Given the description of an element on the screen output the (x, y) to click on. 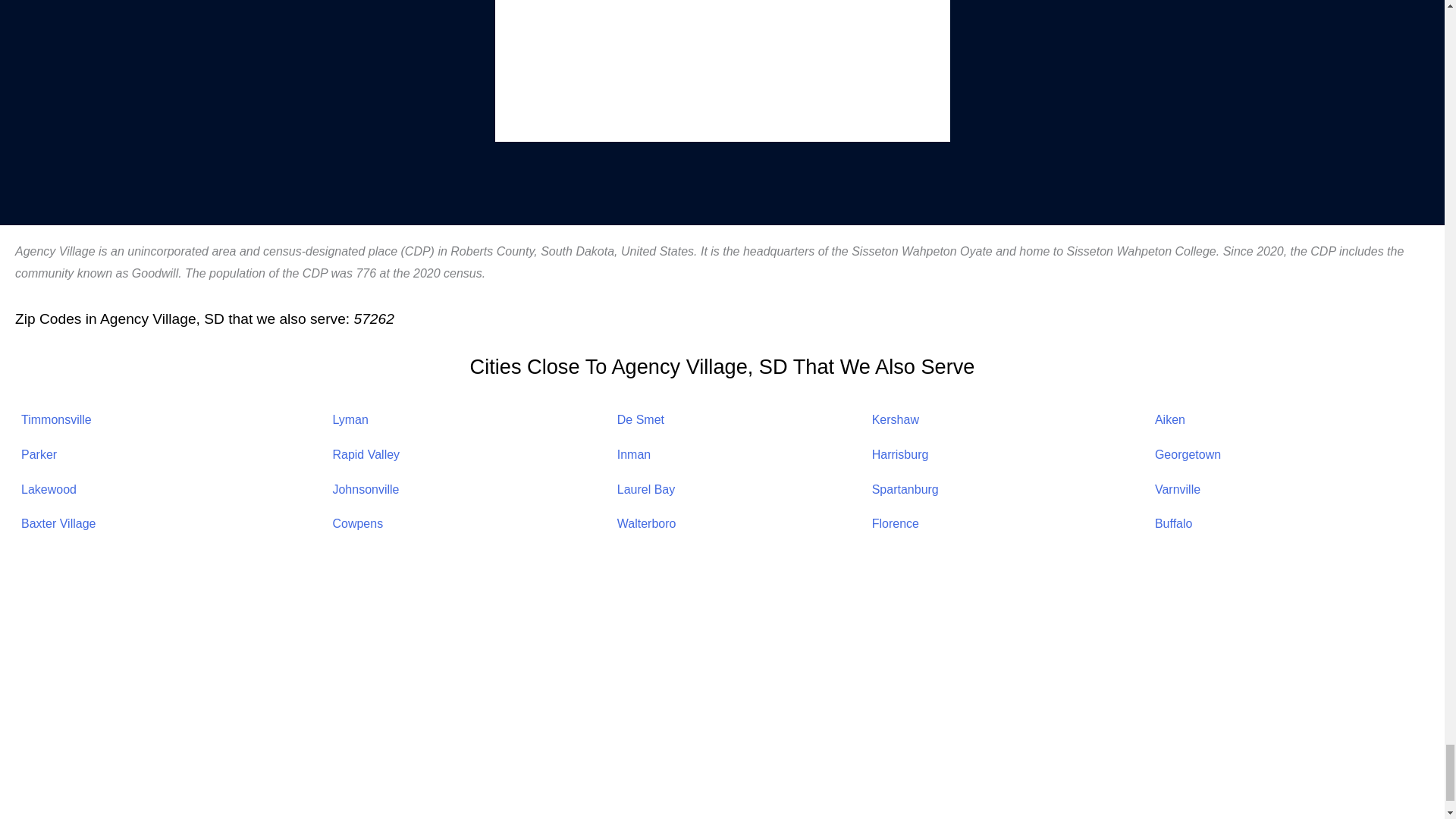
De Smet (640, 419)
Inman (633, 454)
Aiken (1169, 419)
Rapid Valley (364, 454)
Kershaw (895, 419)
Parker (38, 454)
Lyman (349, 419)
Timmonsville (56, 419)
